Given the description of an element on the screen output the (x, y) to click on. 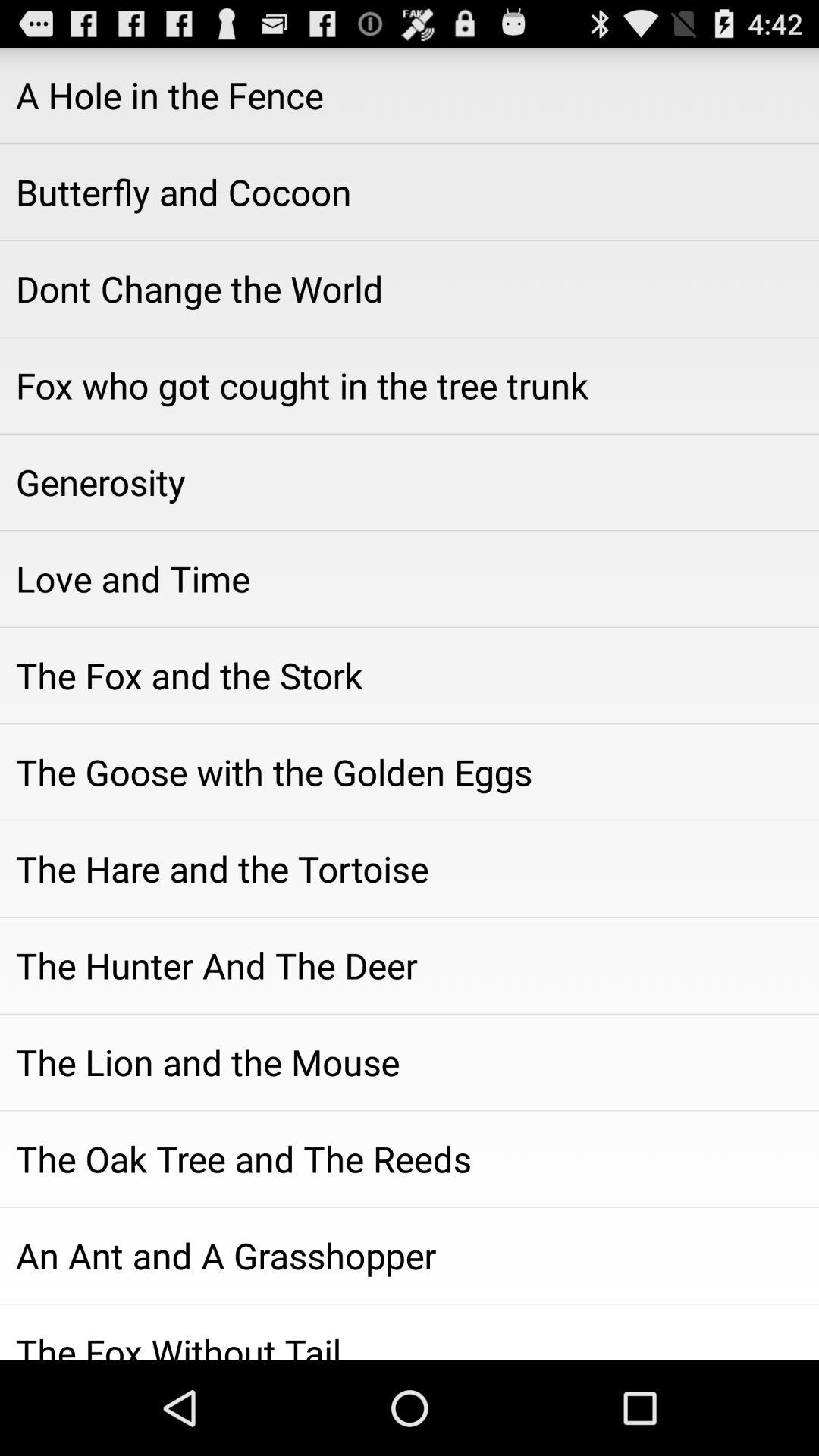
choose an ant and icon (409, 1255)
